Given the description of an element on the screen output the (x, y) to click on. 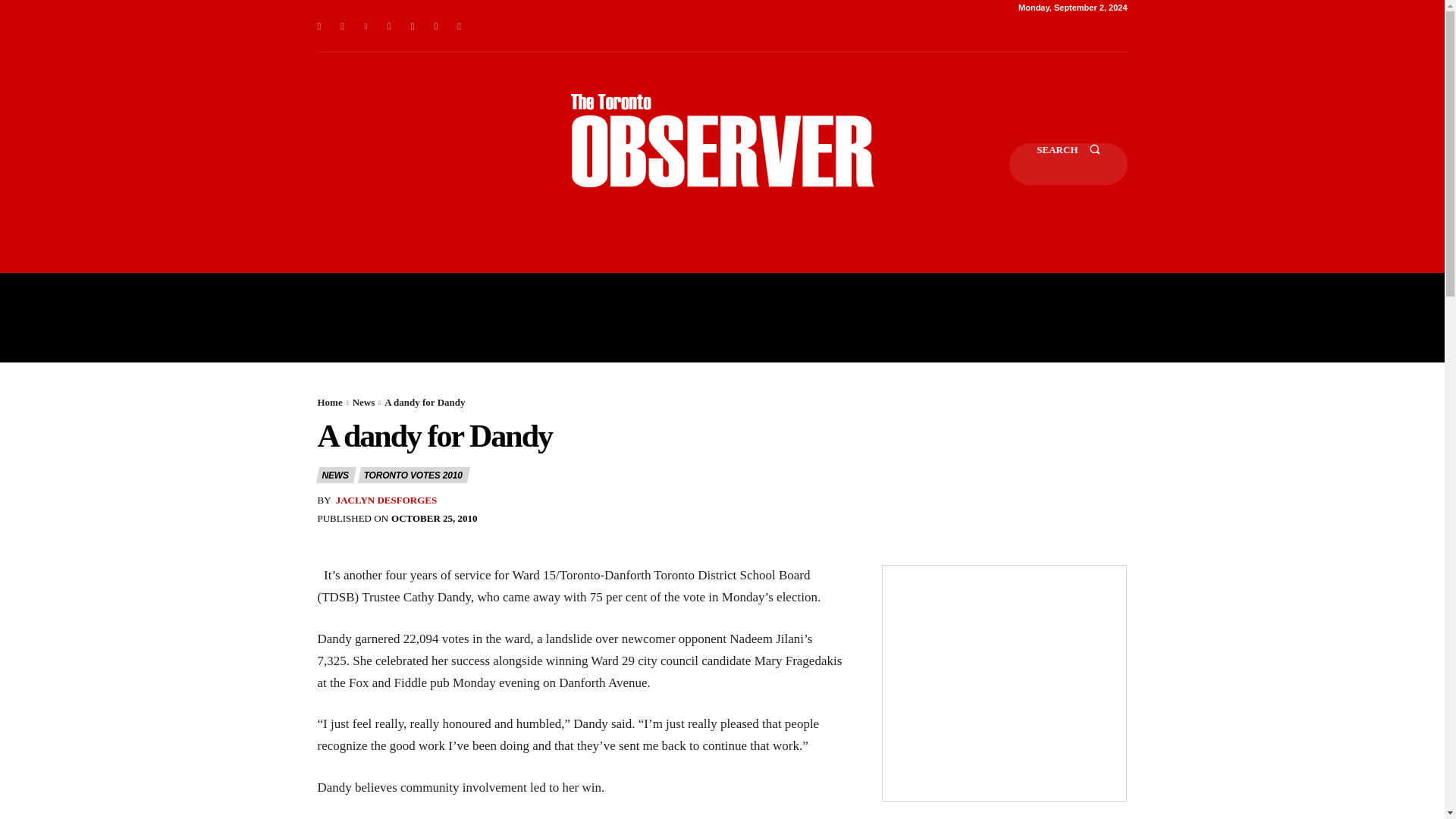
Twitter (436, 26)
Instagram (342, 26)
Soundcloud (389, 26)
Facebook (318, 26)
Youtube (459, 26)
Linkedin (366, 26)
TikTok (412, 26)
Search (1067, 164)
